Given the description of an element on the screen output the (x, y) to click on. 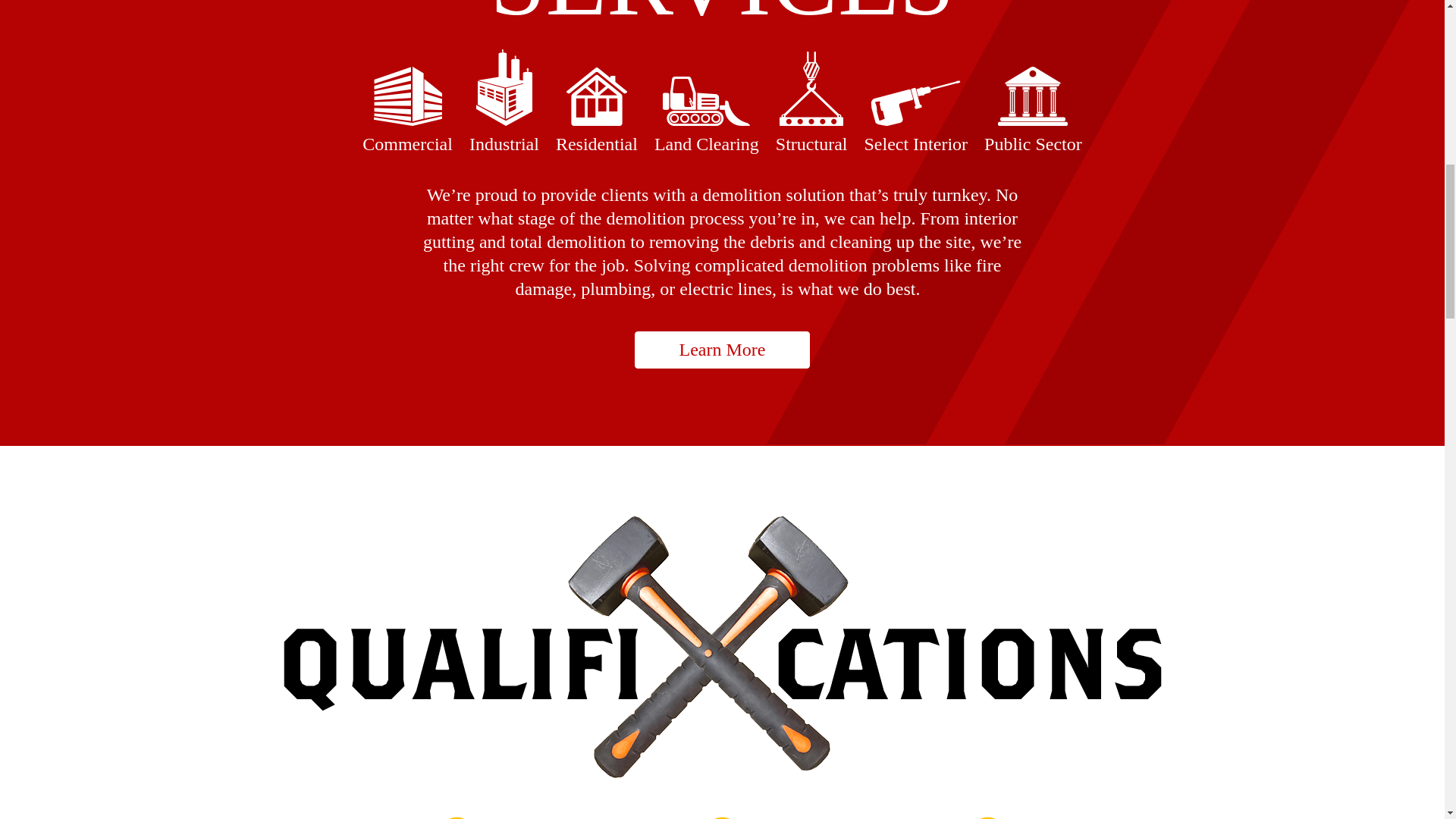
Land Clearing (705, 114)
Commercial (407, 109)
Residential (596, 110)
